Given the description of an element on the screen output the (x, y) to click on. 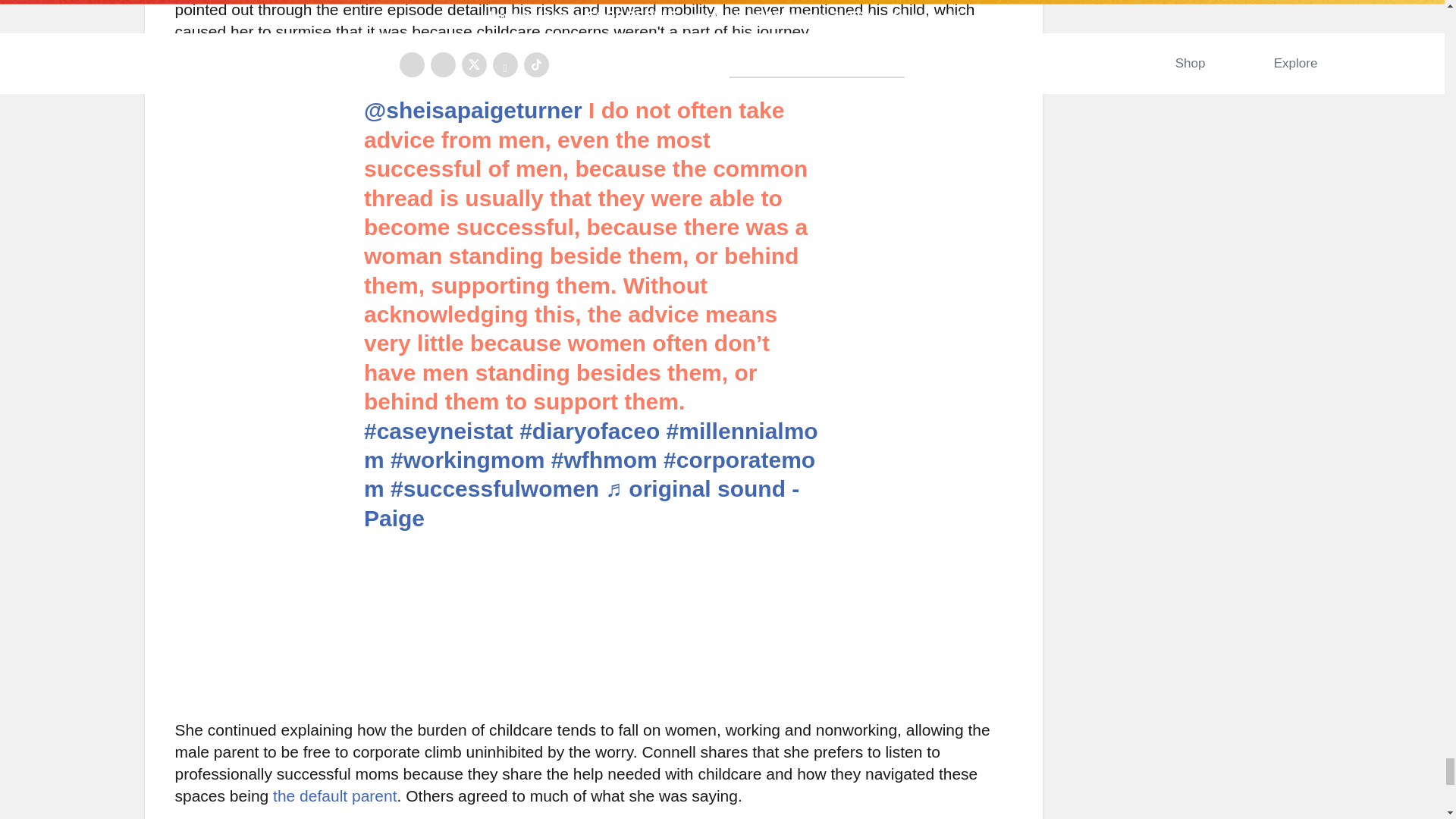
successfulwomen (494, 488)
workingmom (467, 459)
caseyneistat (438, 430)
corporatemom (589, 474)
wfhmom (604, 459)
diaryofaceo (589, 430)
millennialmom (591, 445)
